Given the description of an element on the screen output the (x, y) to click on. 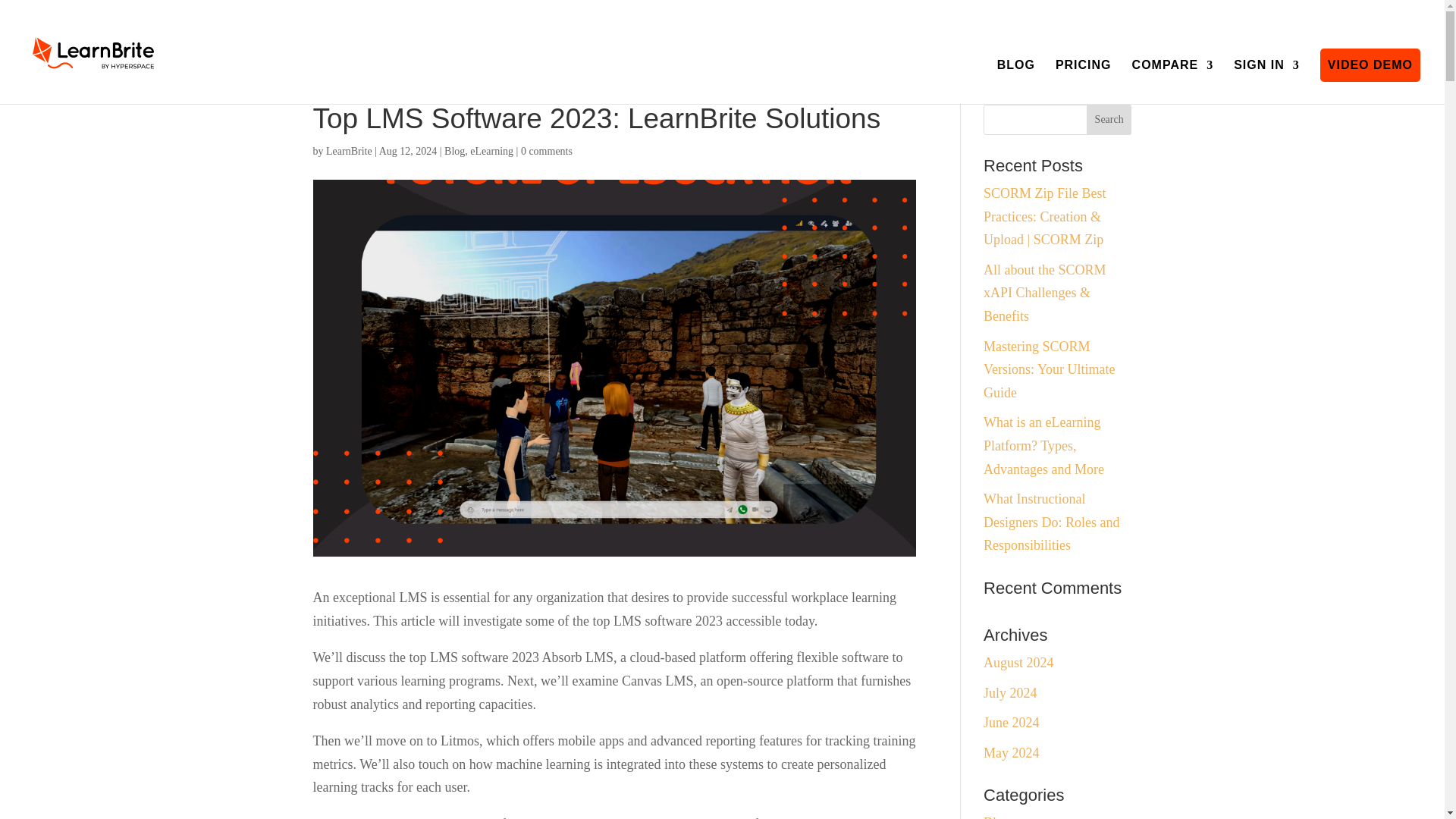
COMPARE (1173, 81)
Blog (454, 151)
Posts by LearnBrite (349, 151)
Search (1109, 119)
PRICING (1083, 81)
LearnBrite (349, 151)
SIGN IN (1266, 81)
VIDEO DEMO (1370, 64)
eLearning (491, 151)
Chat (1406, 779)
